Given the description of an element on the screen output the (x, y) to click on. 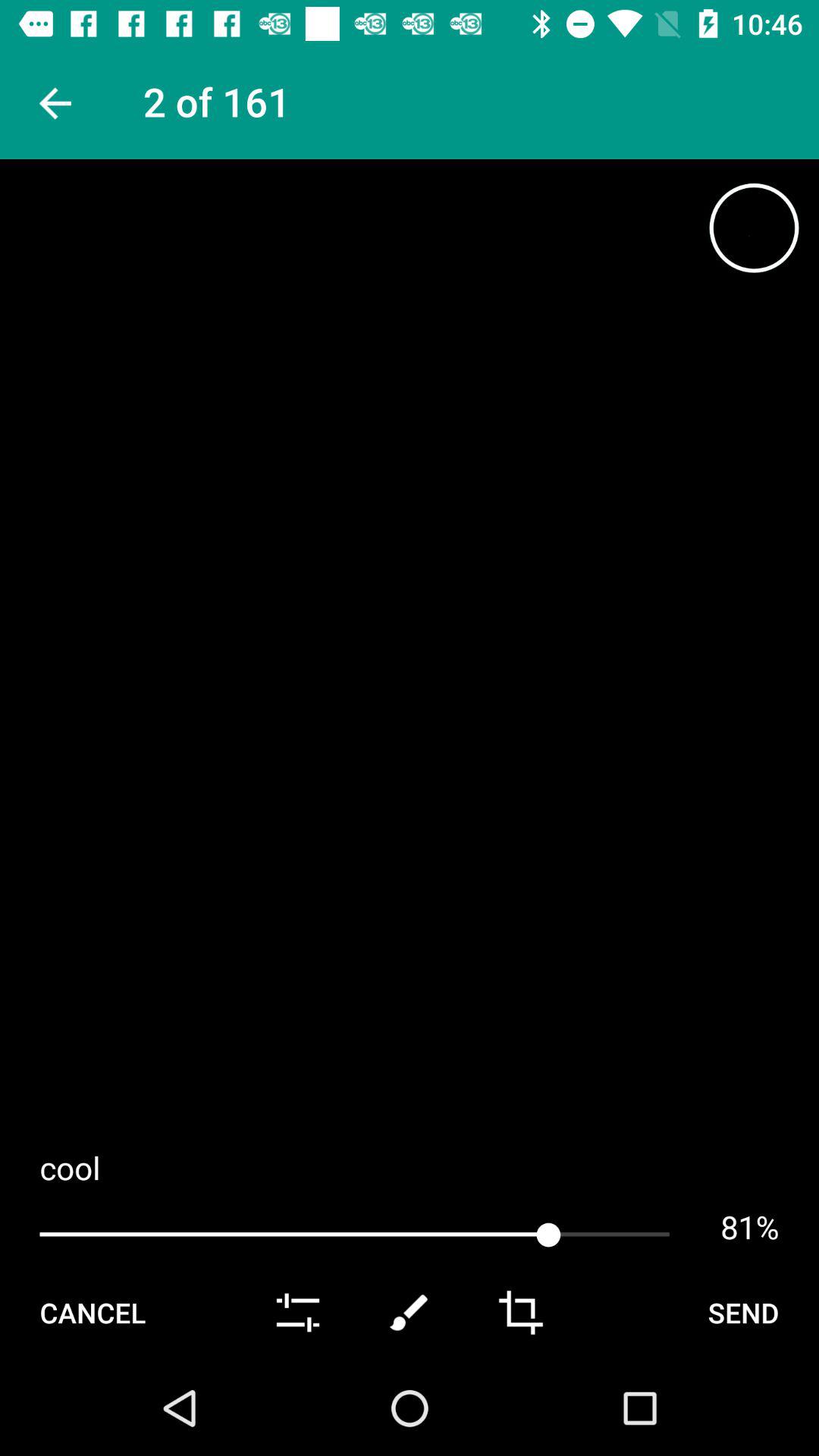
open app above the cool item (53, 103)
